Given the description of an element on the screen output the (x, y) to click on. 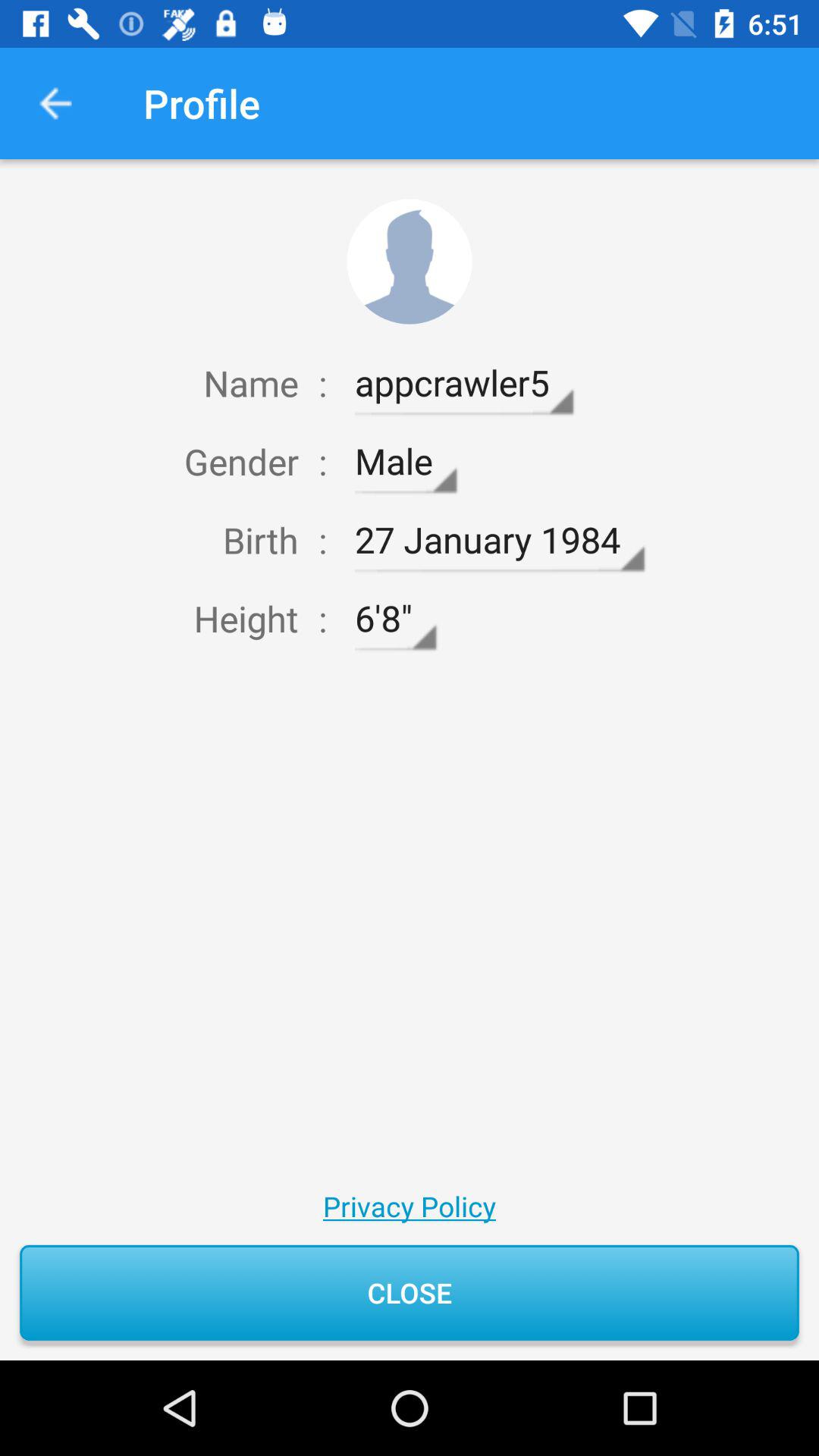
click 27 january 1984 (499, 540)
